Given the description of an element on the screen output the (x, y) to click on. 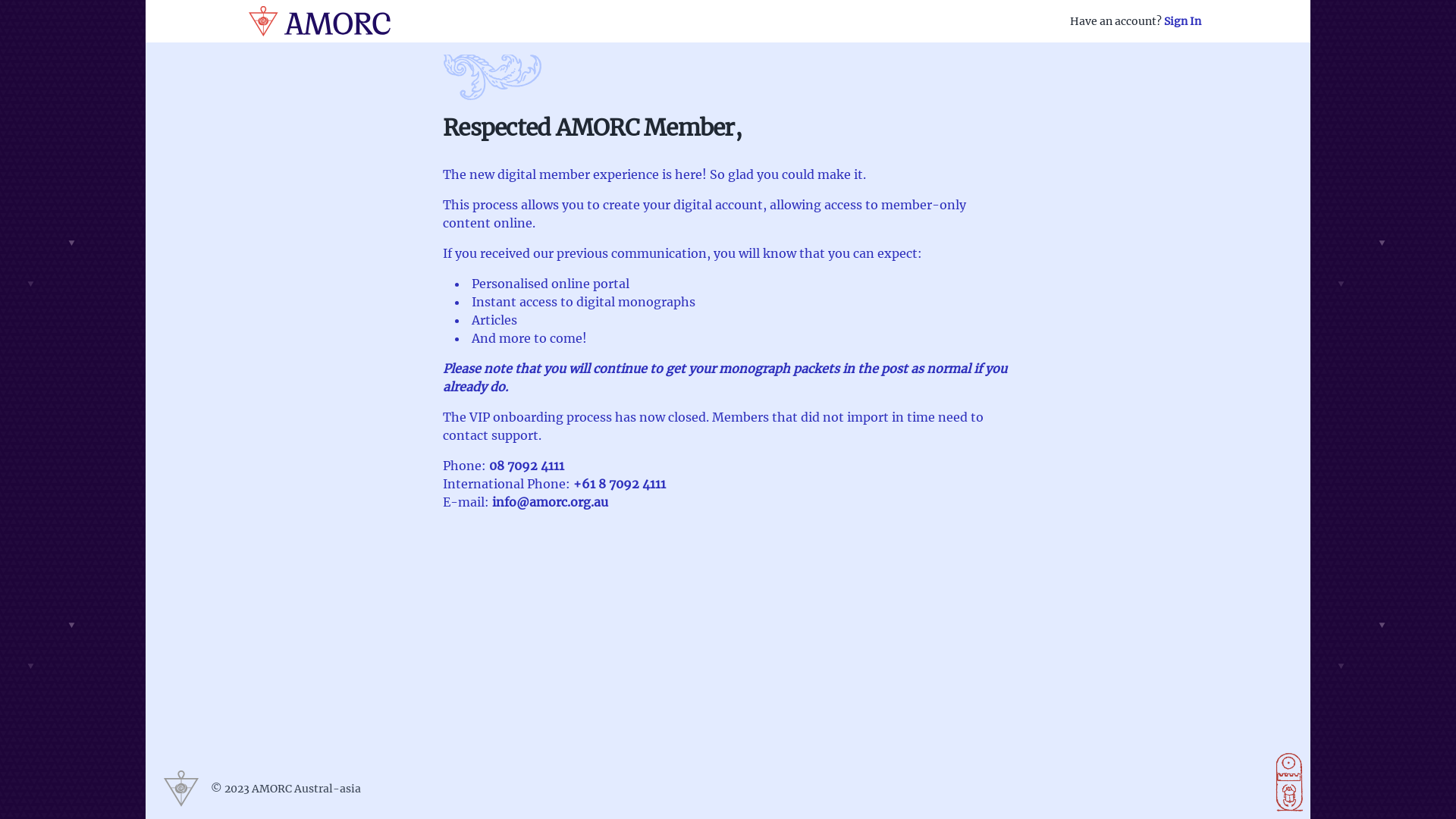
Sign In Element type: text (1182, 21)
